Given the description of an element on the screen output the (x, y) to click on. 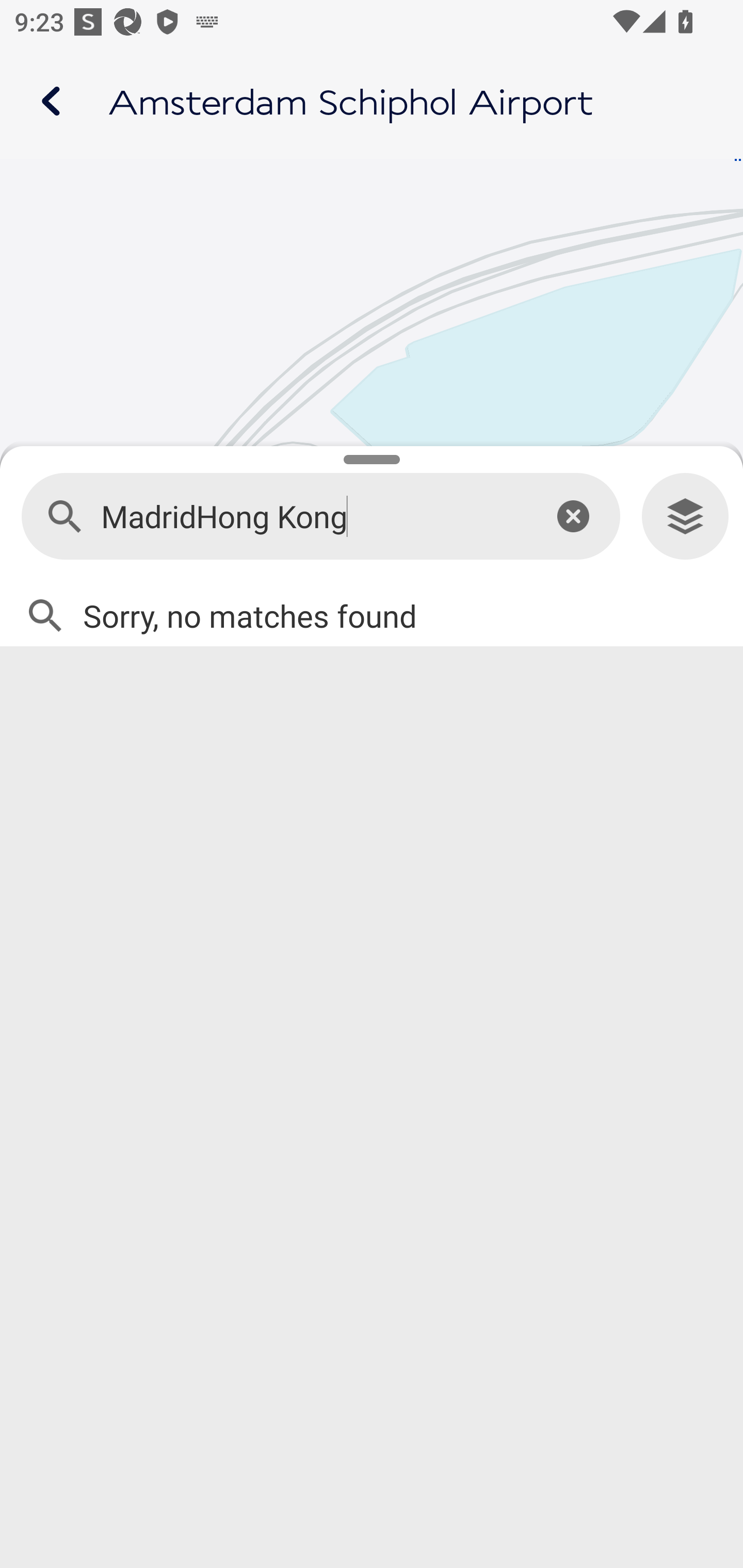
Airport map (371, 100)
MadridHong Kong (311, 516)
Levels (684, 516)
This is an icon for clearing the text field. (573, 515)
